Given the description of an element on the screen output the (x, y) to click on. 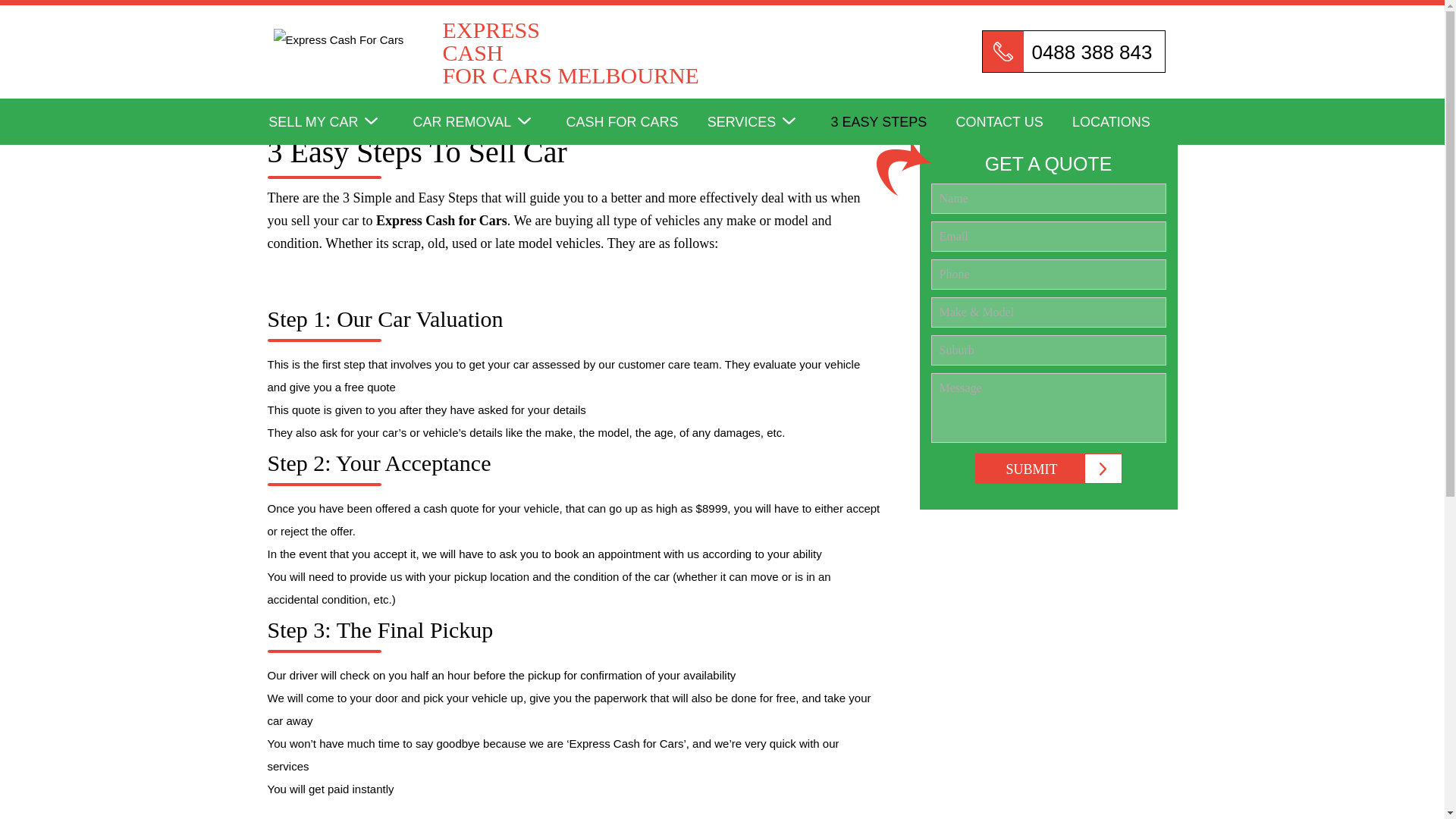
Car Removal (488, 127)
CONTACT US (1011, 127)
Blog (722, 162)
SUBMIT (1048, 468)
Cash for Vehicles Melbourne (634, 127)
3 EASY STEPS (892, 127)
SELL MY CAR (338, 127)
LOCATIONS (564, 27)
Contact us (1123, 127)
Sell My Car (1011, 127)
Express Cash For Cars (338, 127)
CASH FOR CARS (564, 27)
SUBMIT (634, 127)
0488 388 843 (1048, 468)
